Given the description of an element on the screen output the (x, y) to click on. 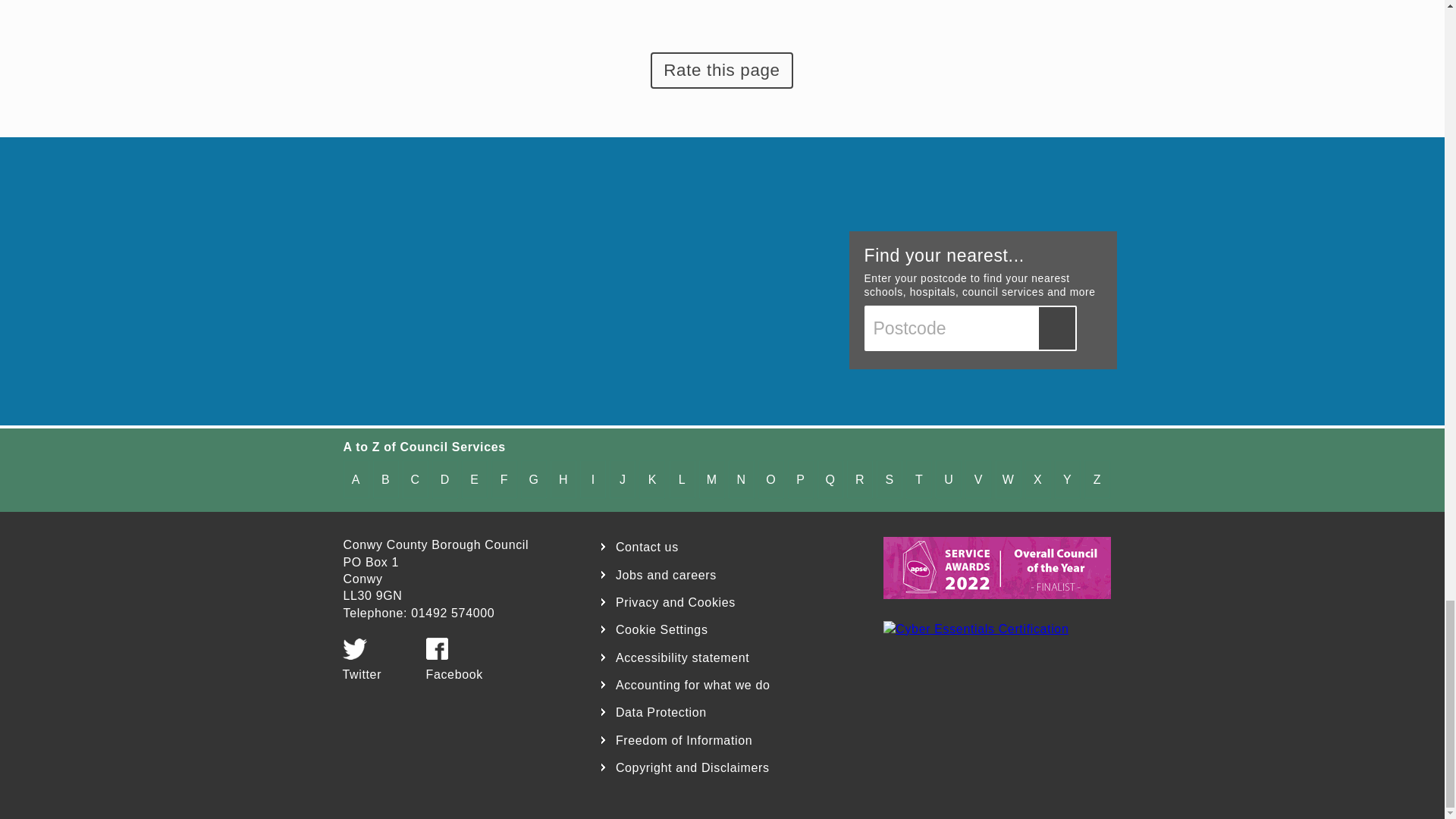
Rate this page (721, 70)
